Given the description of an element on the screen output the (x, y) to click on. 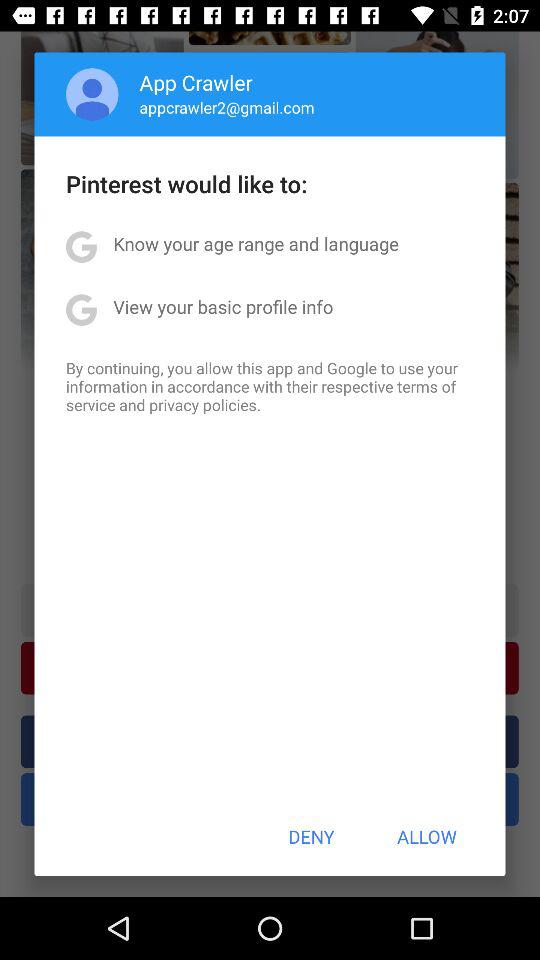
turn on the item above by continuing you app (223, 306)
